Given the description of an element on the screen output the (x, y) to click on. 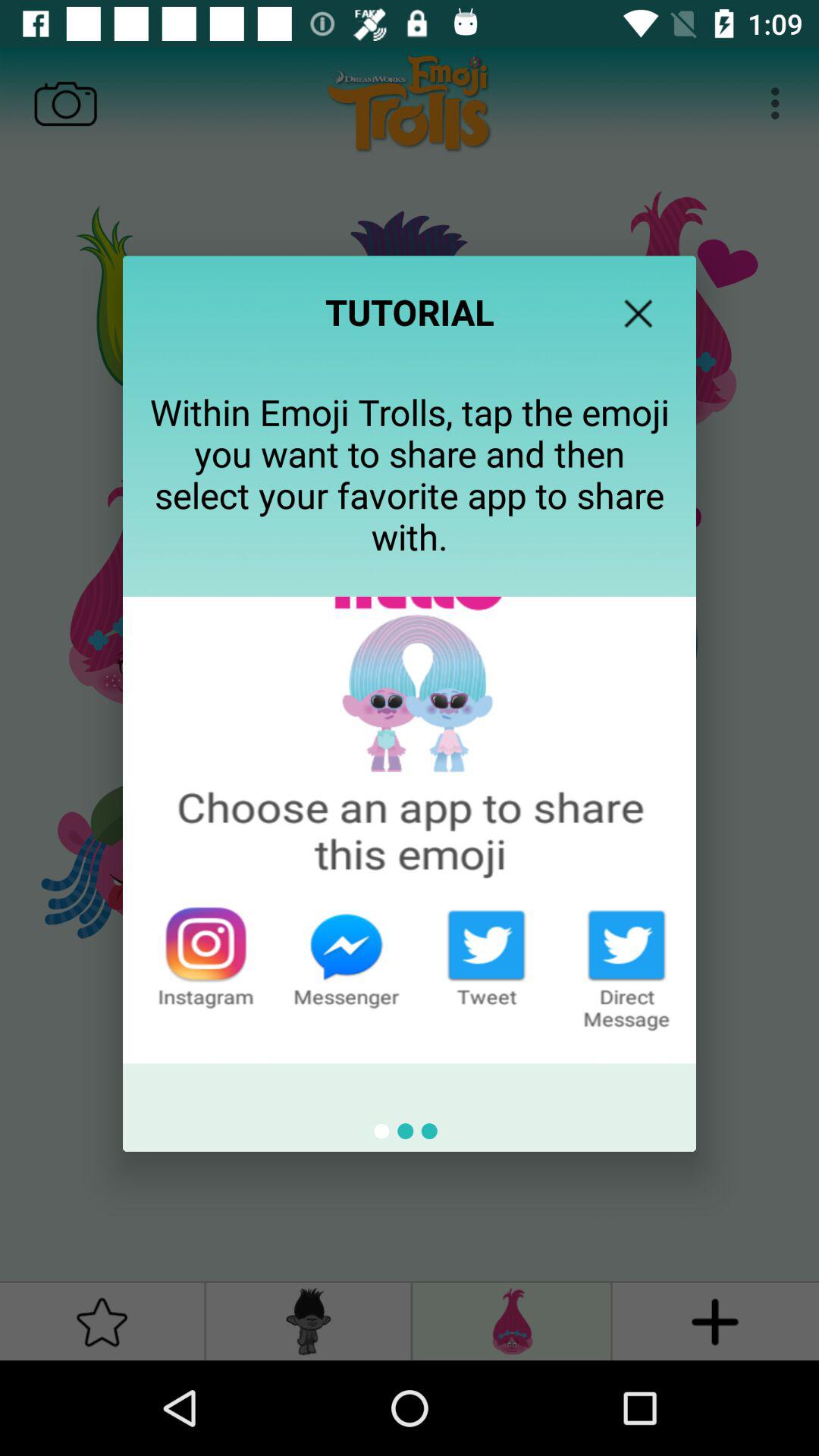
close window (638, 313)
